Given the description of an element on the screen output the (x, y) to click on. 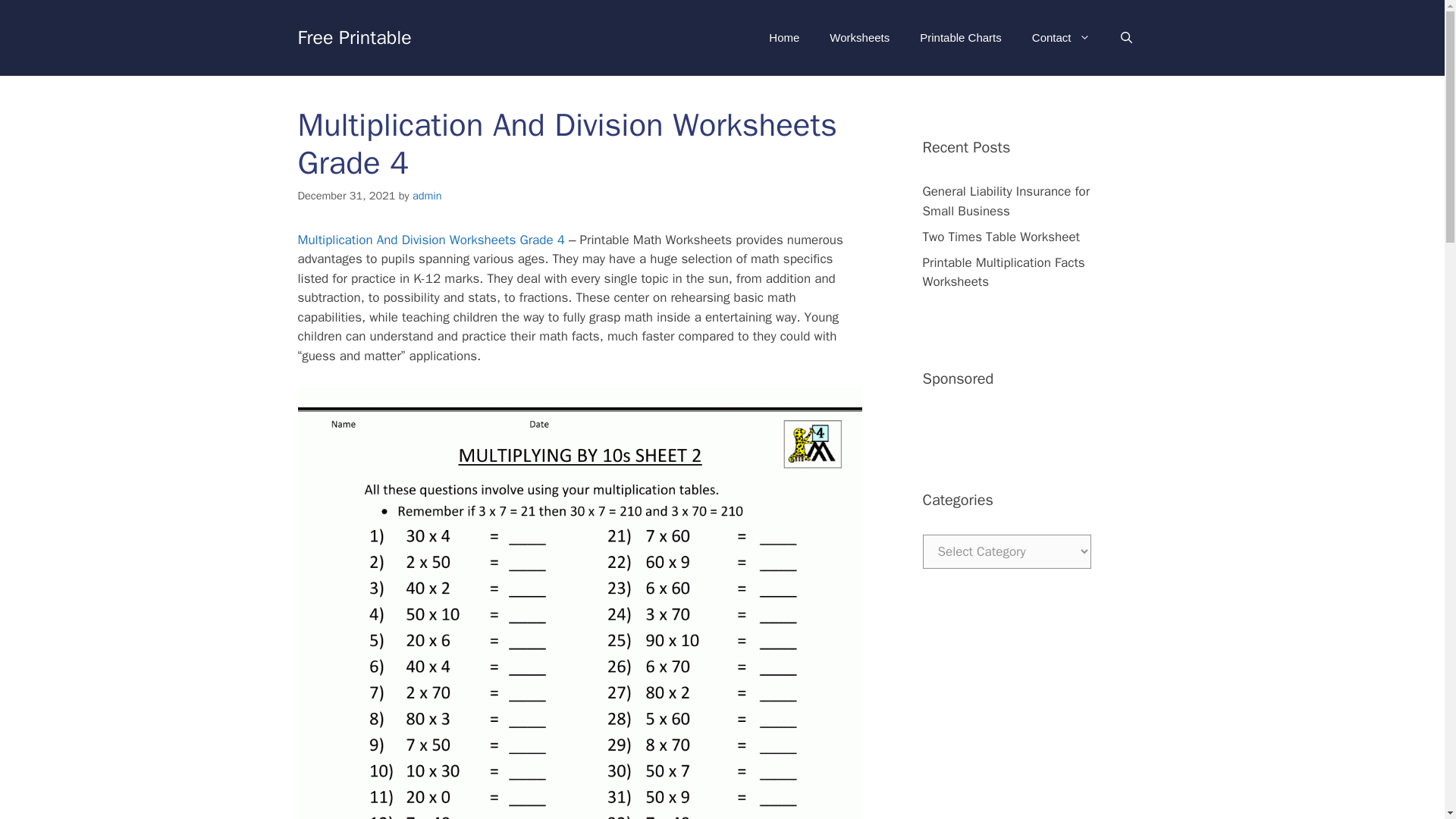
Multiplication And Division Worksheets Grade 4 (430, 239)
Home (783, 37)
Printable Charts (960, 37)
Worksheets (858, 37)
Contact (1060, 37)
View all posts by admin (427, 195)
Free Printable (353, 37)
admin (427, 195)
